Given the description of an element on the screen output the (x, y) to click on. 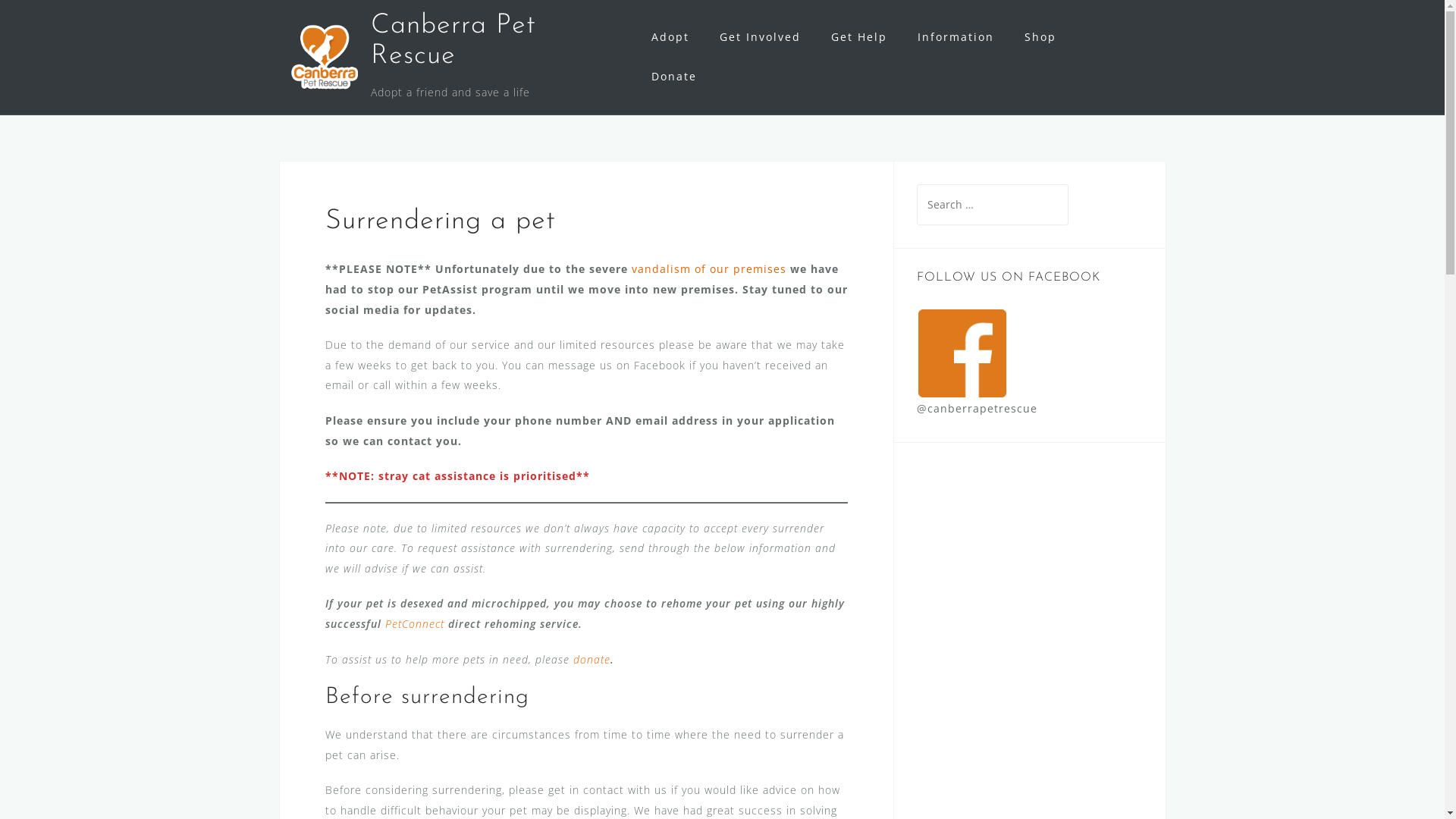
Information Element type: text (955, 37)
PetConnect Element type: text (414, 623)
Shop Element type: text (1040, 37)
vandalism of our premises Element type: text (707, 268)
Get Involved Element type: text (759, 37)
Donate Element type: text (673, 76)
Search Element type: text (51, 20)
donate Element type: text (591, 659)
Canberra Pet Rescue Element type: text (453, 40)
Get Help Element type: text (859, 37)
Adopt Element type: text (670, 37)
@canberrapetrescue Element type: text (976, 380)
